Given the description of an element on the screen output the (x, y) to click on. 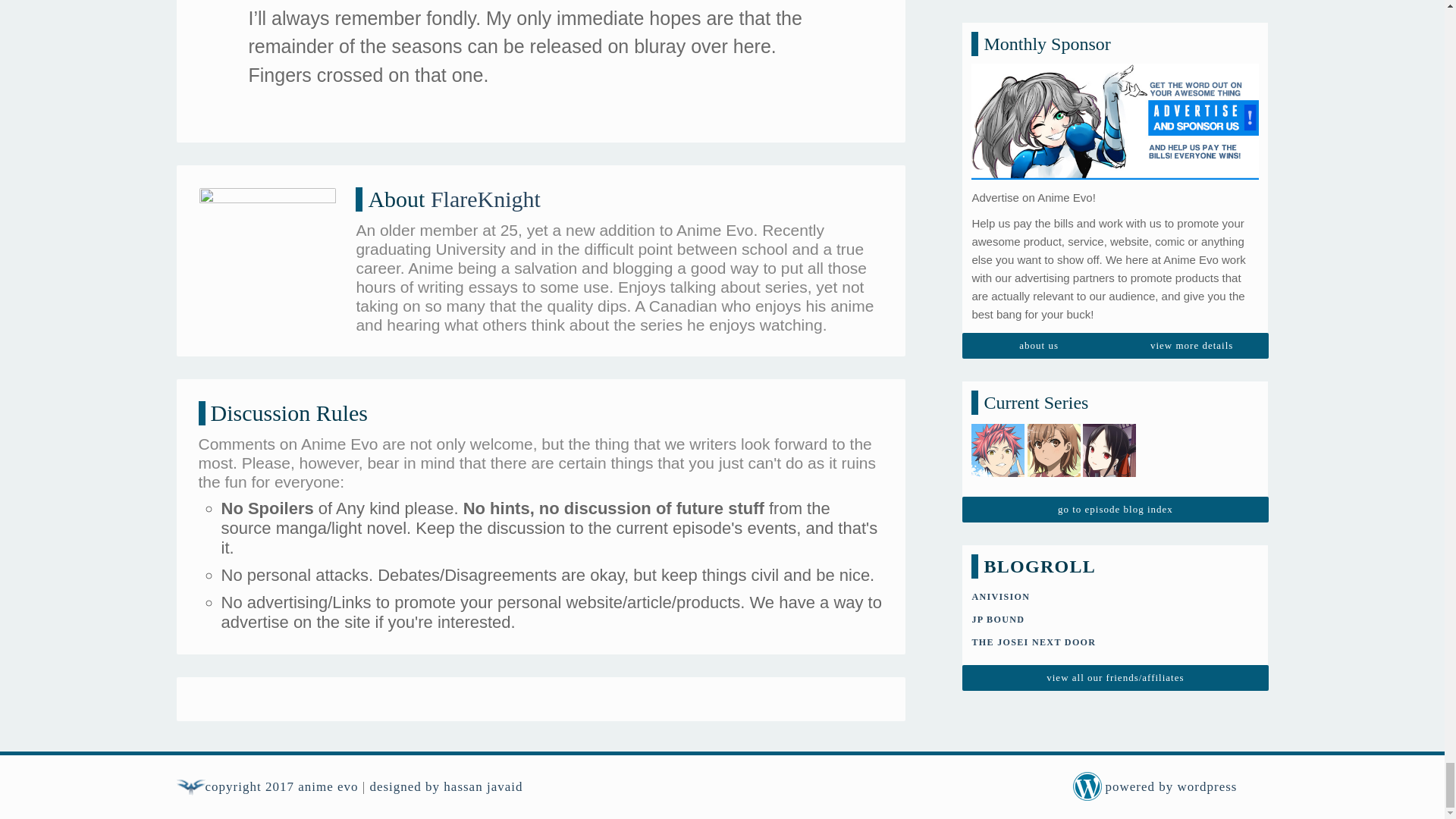
Posts by FlareKnight (485, 198)
